Given the description of an element on the screen output the (x, y) to click on. 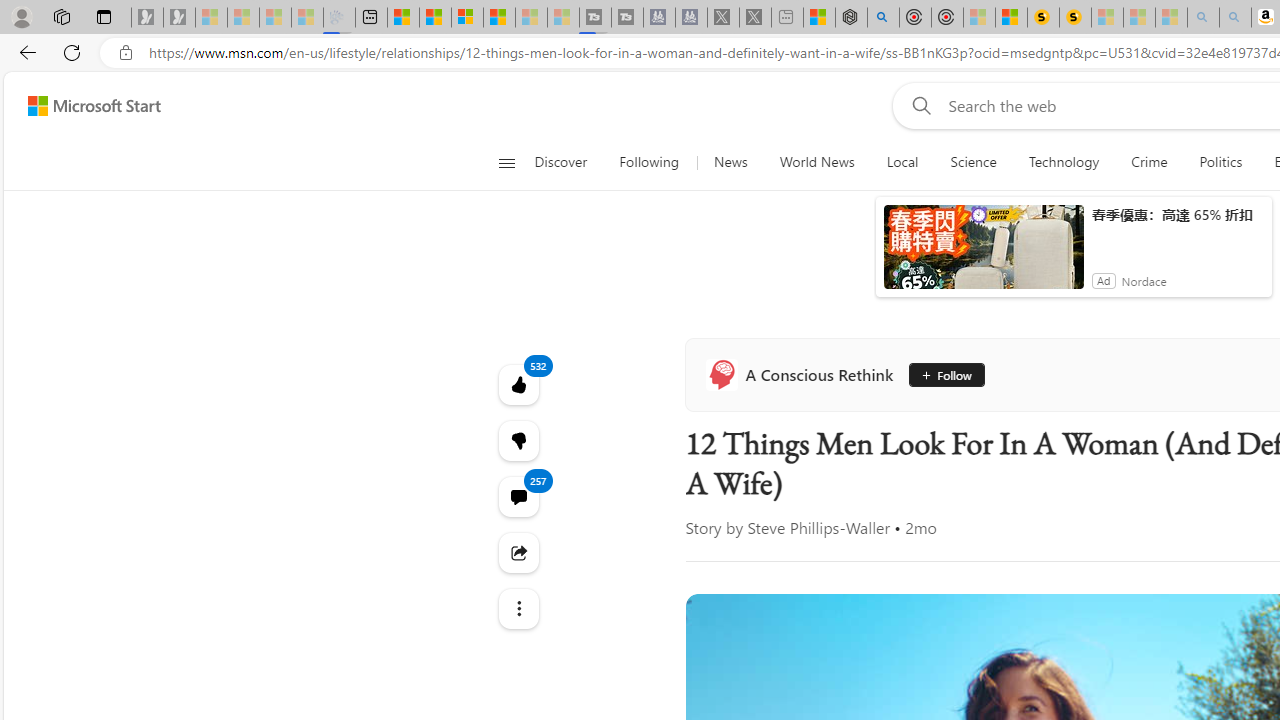
AutomationID: tab-25 (857, 576)
AutomationID: tab-29 (889, 576)
View comments 509 Comment (1234, 573)
Shopping (1240, 265)
Irish Star (1138, 475)
Streaming Coverage | T3 - Sleeping (591, 17)
Start the conversation (1212, 574)
Microsoft Start Sports (932, 223)
